Given the description of an element on the screen output the (x, y) to click on. 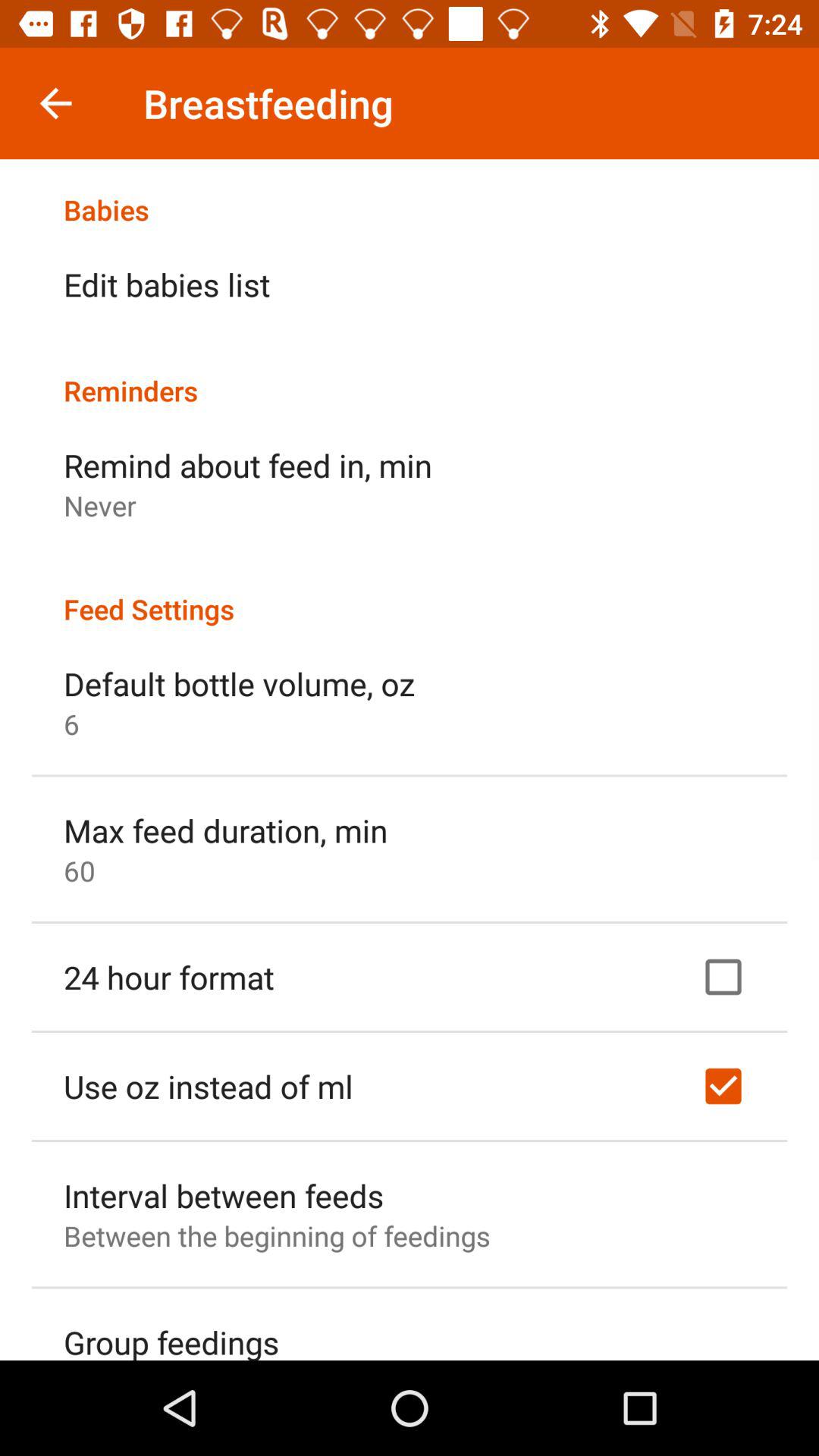
choose icon above the group feedings icon (276, 1235)
